Given the description of an element on the screen output the (x, y) to click on. 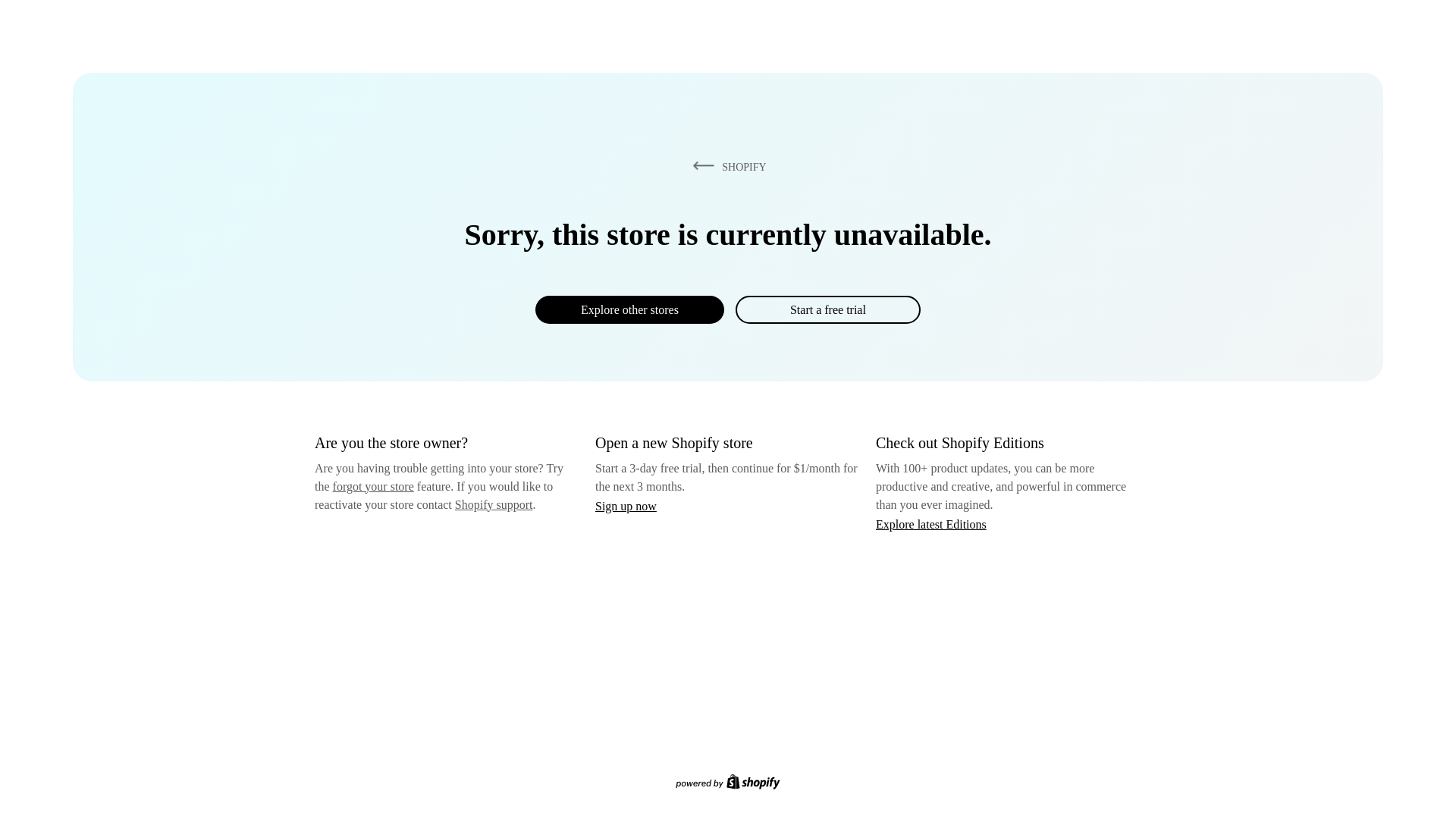
SHOPIFY (726, 166)
forgot your store (373, 486)
Explore latest Editions (931, 523)
Sign up now (625, 505)
Shopify support (493, 504)
Explore other stores (629, 309)
Start a free trial (827, 309)
